Given the description of an element on the screen output the (x, y) to click on. 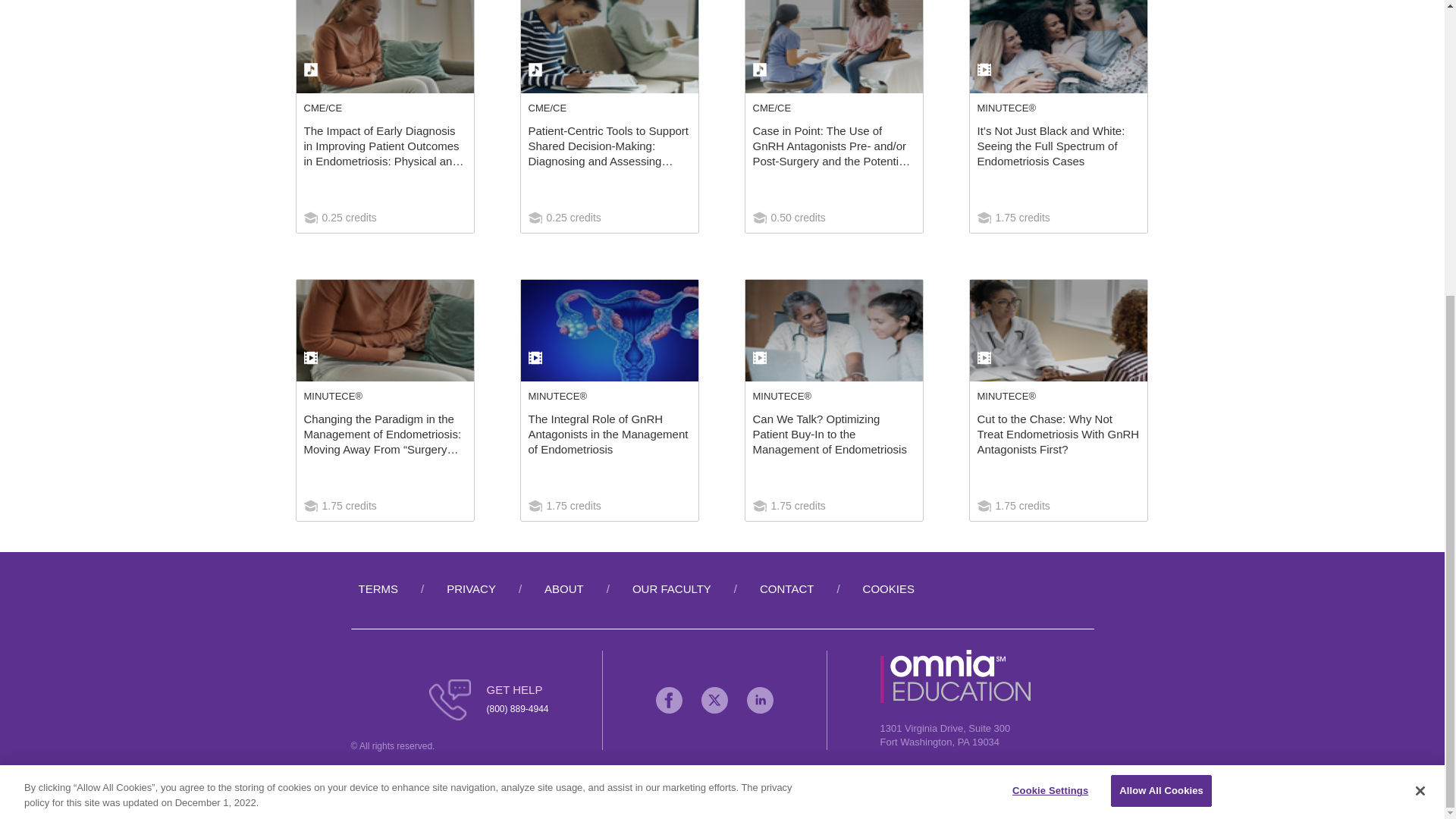
Phone icon (449, 699)
LinkedIn (759, 700)
Omnia Education (955, 699)
Twitter (714, 700)
Omnia Education (955, 676)
